Given the description of an element on the screen output the (x, y) to click on. 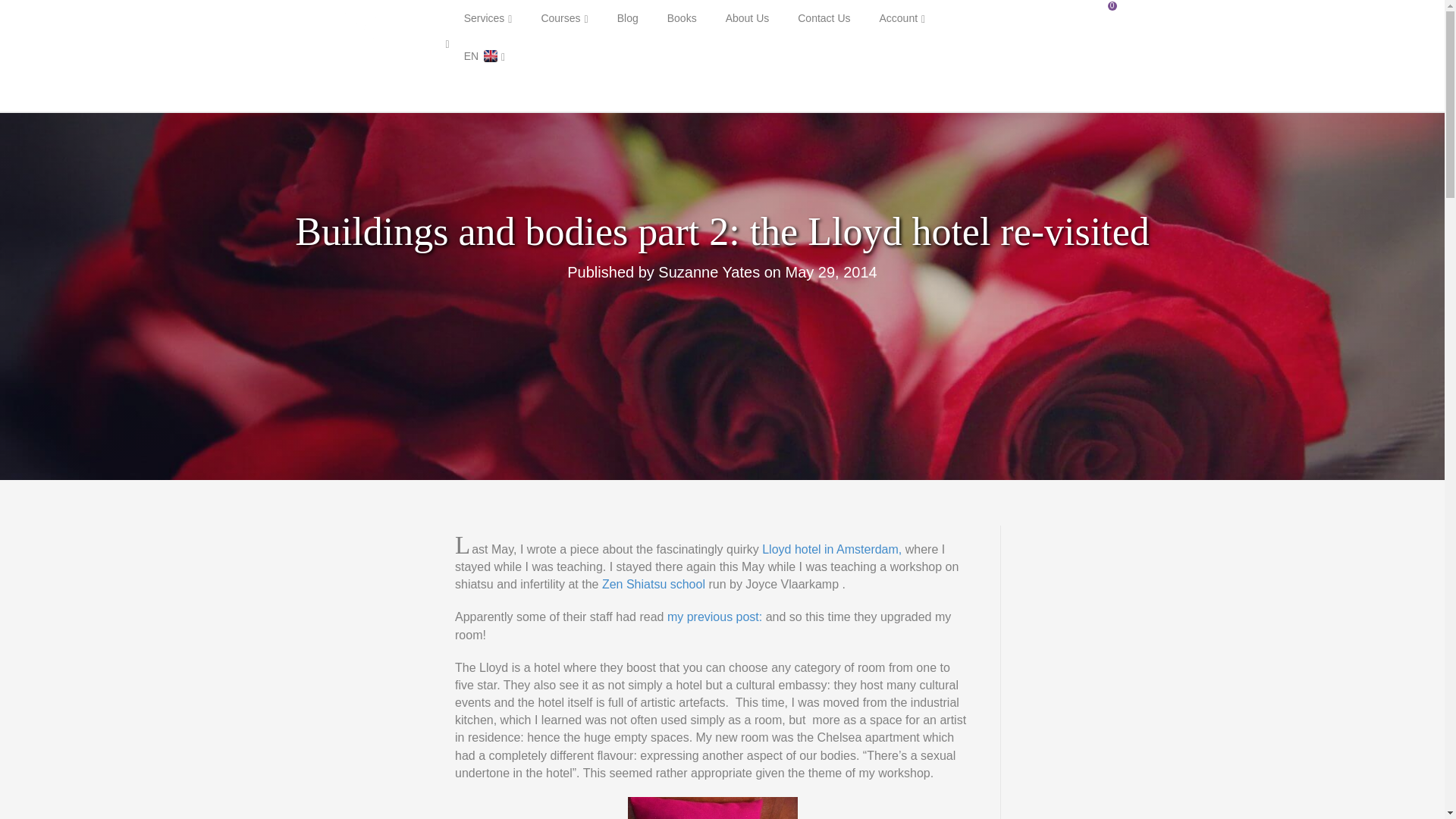
Services (488, 18)
